Given the description of an element on the screen output the (x, y) to click on. 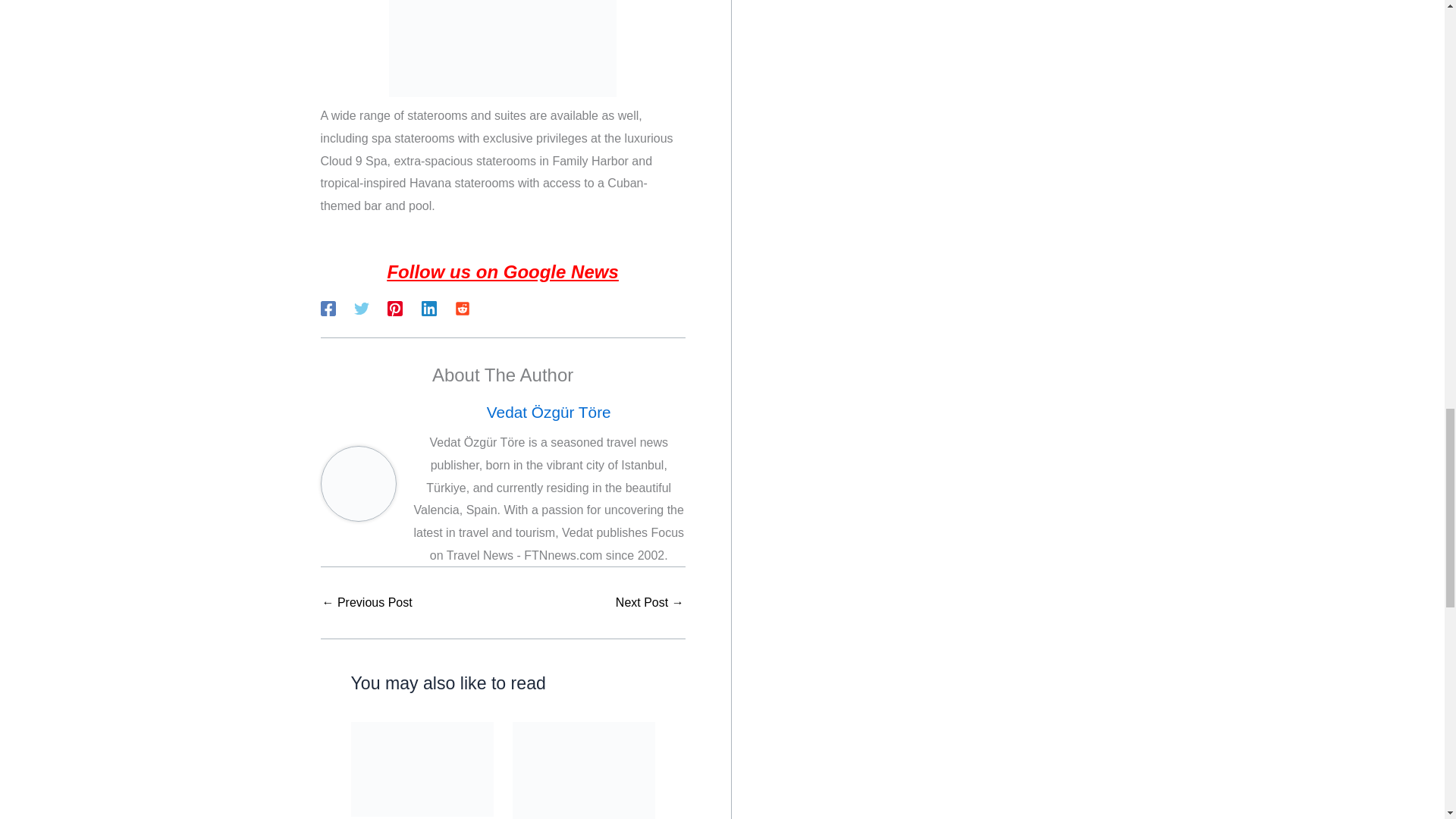
Top 10 Sustainable Destinations for Business Events in 2019 (649, 603)
